Given the description of an element on the screen output the (x, y) to click on. 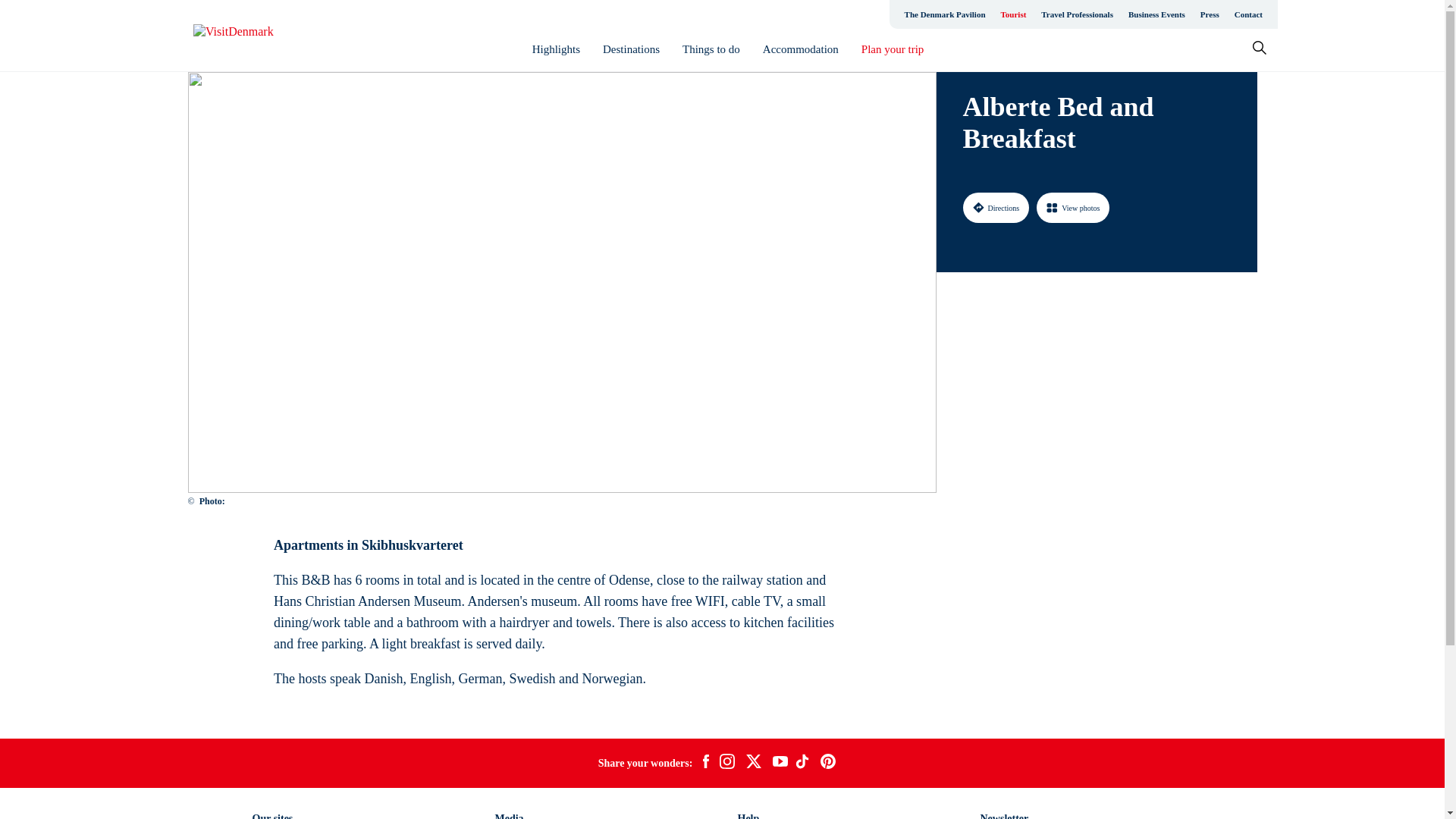
Tourist (1012, 14)
Directions (995, 207)
facebook (705, 763)
Contact (1248, 14)
Highlights (555, 49)
Go to homepage (253, 35)
Plan your trip (892, 49)
The Denmark Pavilion (944, 14)
Press (1209, 14)
Travel Professionals (1077, 14)
